Given the description of an element on the screen output the (x, y) to click on. 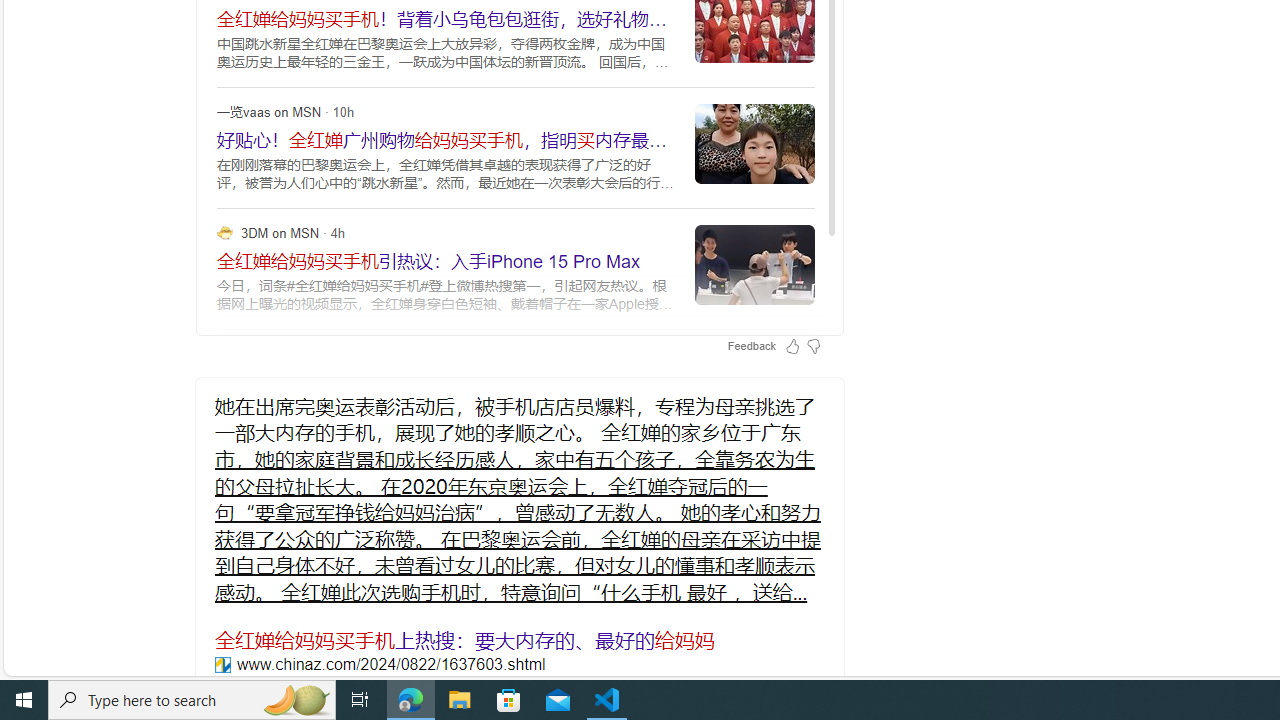
Feedback Dislike (813, 345)
www.chinaz.com/2024/0822/1637603.shtml (222, 664)
Feedback Like (792, 345)
3DM on MSN (224, 232)
